Given the description of an element on the screen output the (x, y) to click on. 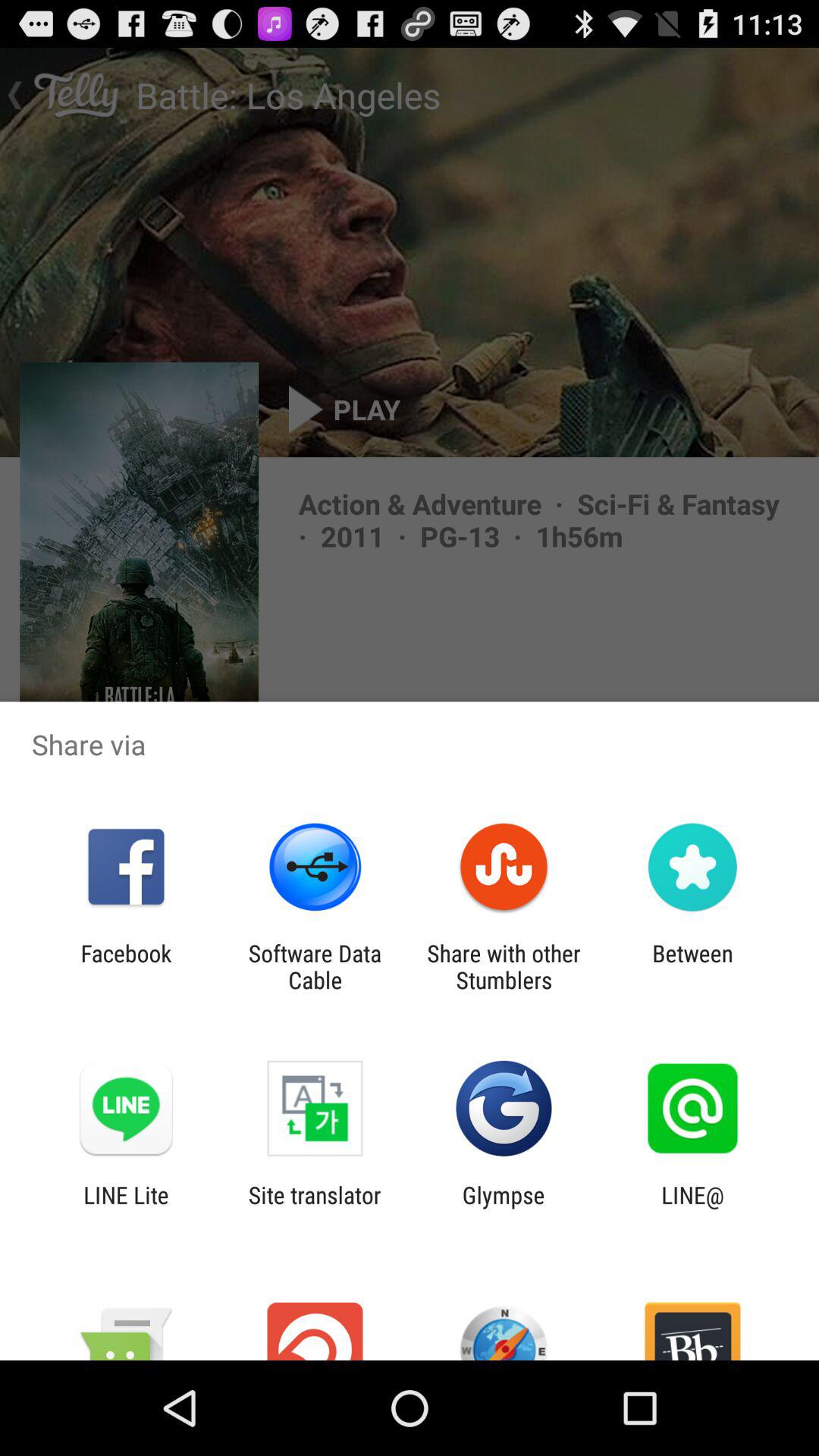
swipe to site translator app (314, 1208)
